Given the description of an element on the screen output the (x, y) to click on. 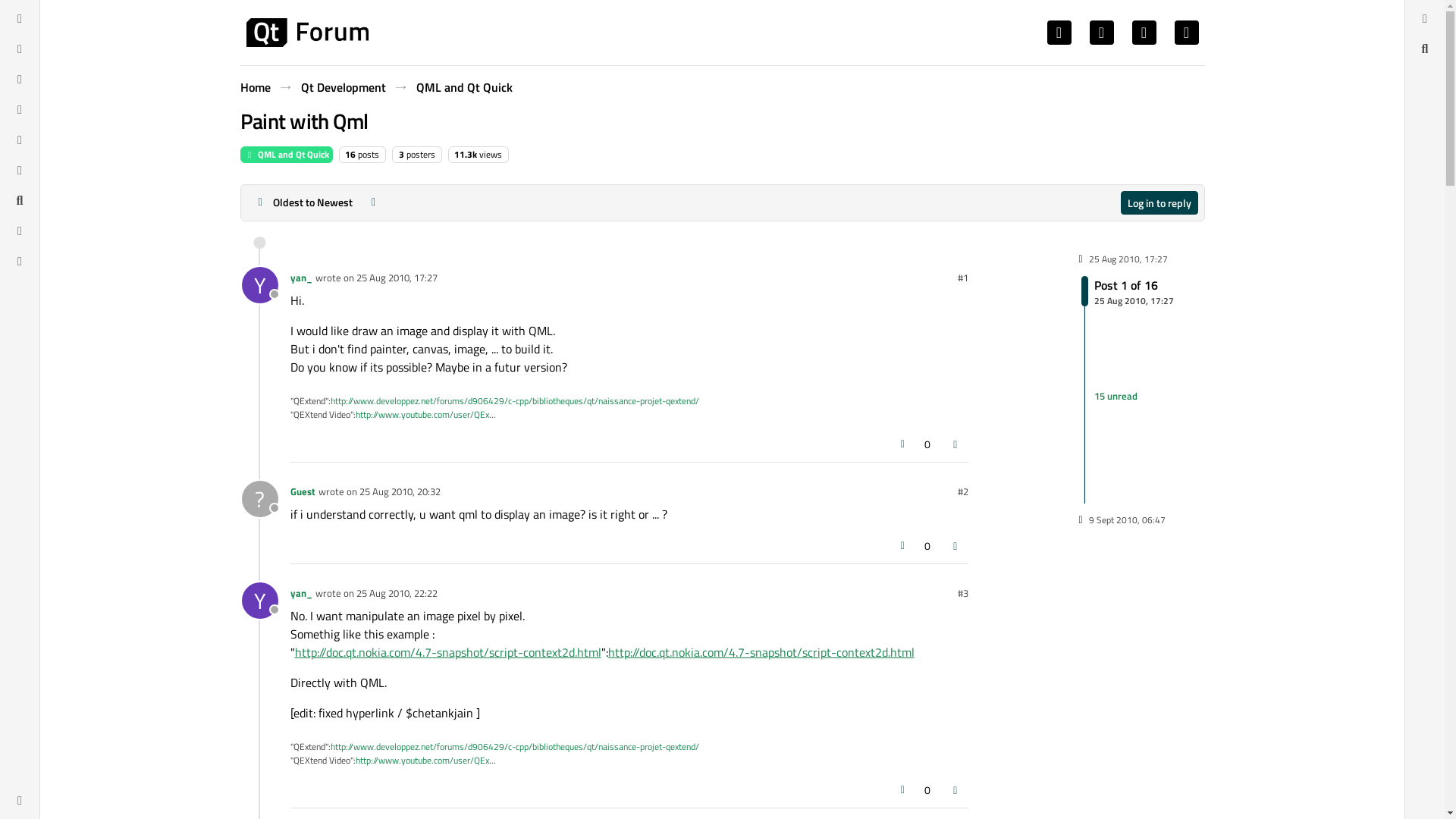
Oldest to Newest (303, 201)
Log in to reply (1159, 202)
11272 (465, 154)
Home (254, 86)
QML and Qt Quick (1127, 291)
Guest (285, 154)
25 Aug 2010, 17:27 (259, 498)
QML and Qt Quick (397, 277)
Qt Development (463, 86)
